Given the description of an element on the screen output the (x, y) to click on. 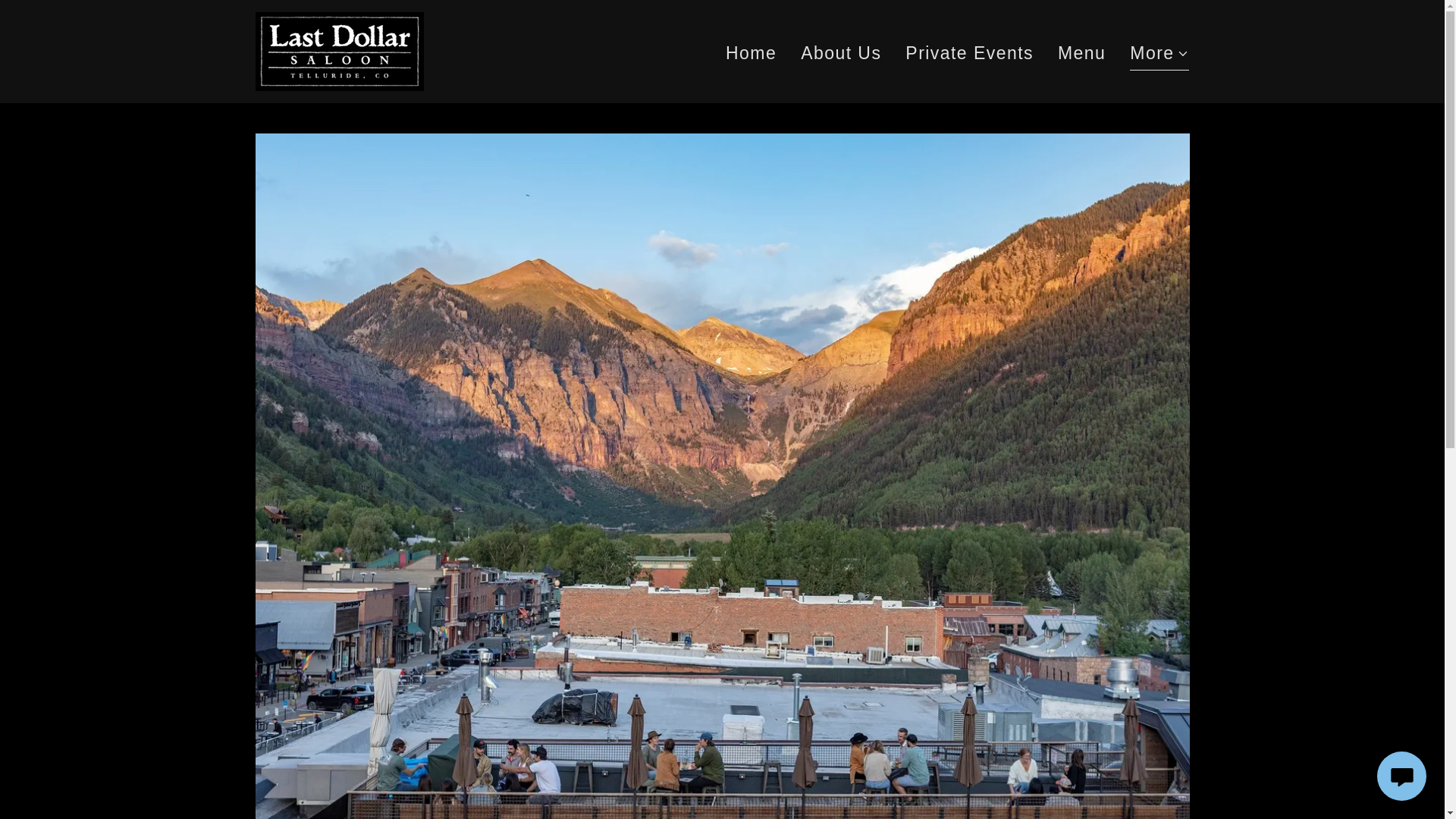
Menu (1080, 53)
Welcome to the Last Dollar Saloon (338, 49)
Home (750, 53)
More (1159, 55)
About Us (840, 53)
Private Events (969, 53)
